Given the description of an element on the screen output the (x, y) to click on. 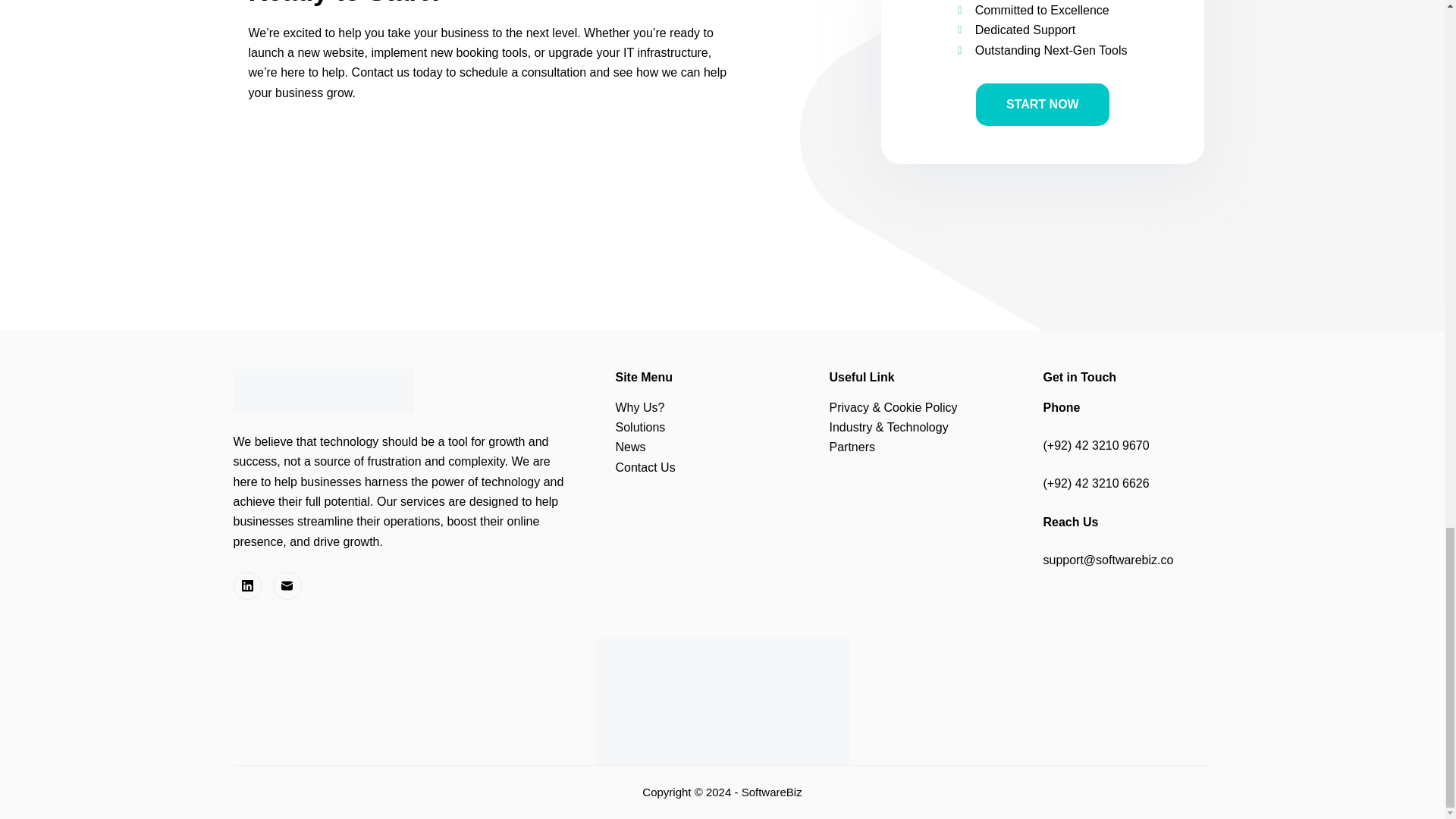
News (630, 446)
START NOW (1042, 104)
Contact Us (645, 467)
Why Us? (640, 407)
Solutions (640, 427)
